Given the description of an element on the screen output the (x, y) to click on. 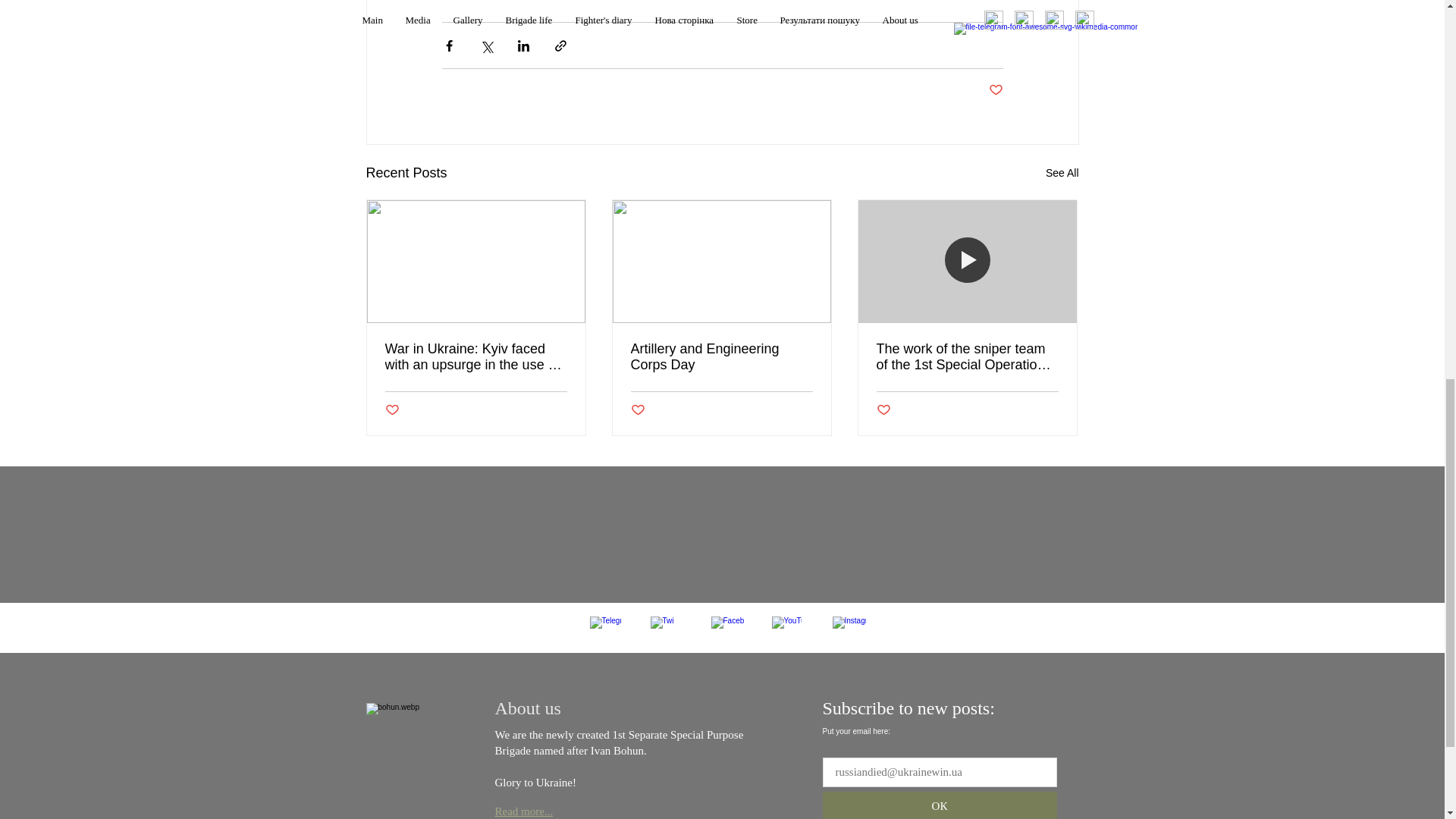
Artillery and Engineering Corps Day (721, 357)
Post not marked as liked (391, 410)
Post not marked as liked (995, 90)
See All (1061, 173)
